Given the description of an element on the screen output the (x, y) to click on. 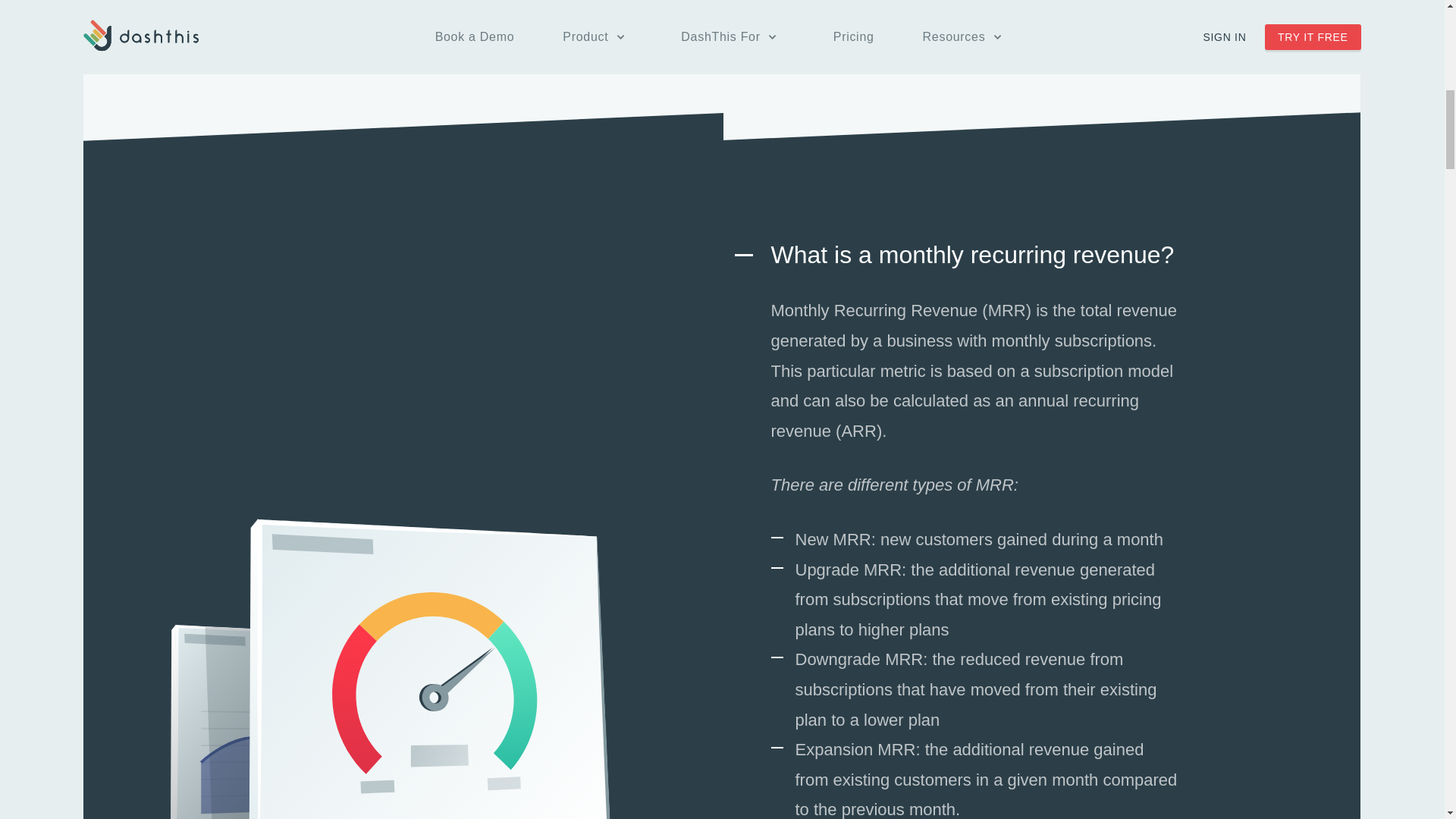
TRACK YOUR MRR! (342, 7)
